Given the description of an element on the screen output the (x, y) to click on. 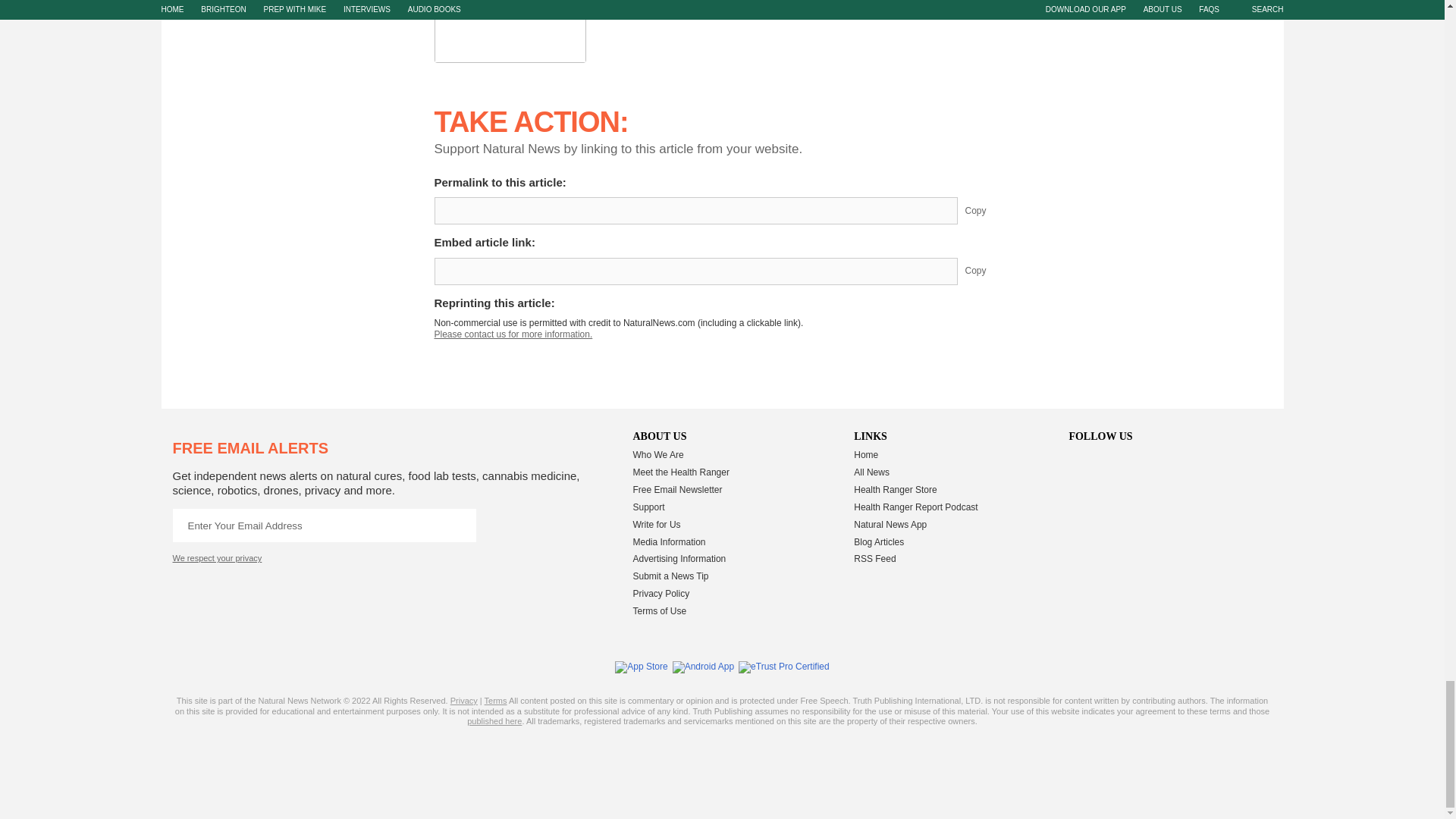
Copy Permalink (986, 210)
eTrust Pro Certified (783, 666)
Continue (459, 525)
Copy Embed Link (986, 271)
